Given the description of an element on the screen output the (x, y) to click on. 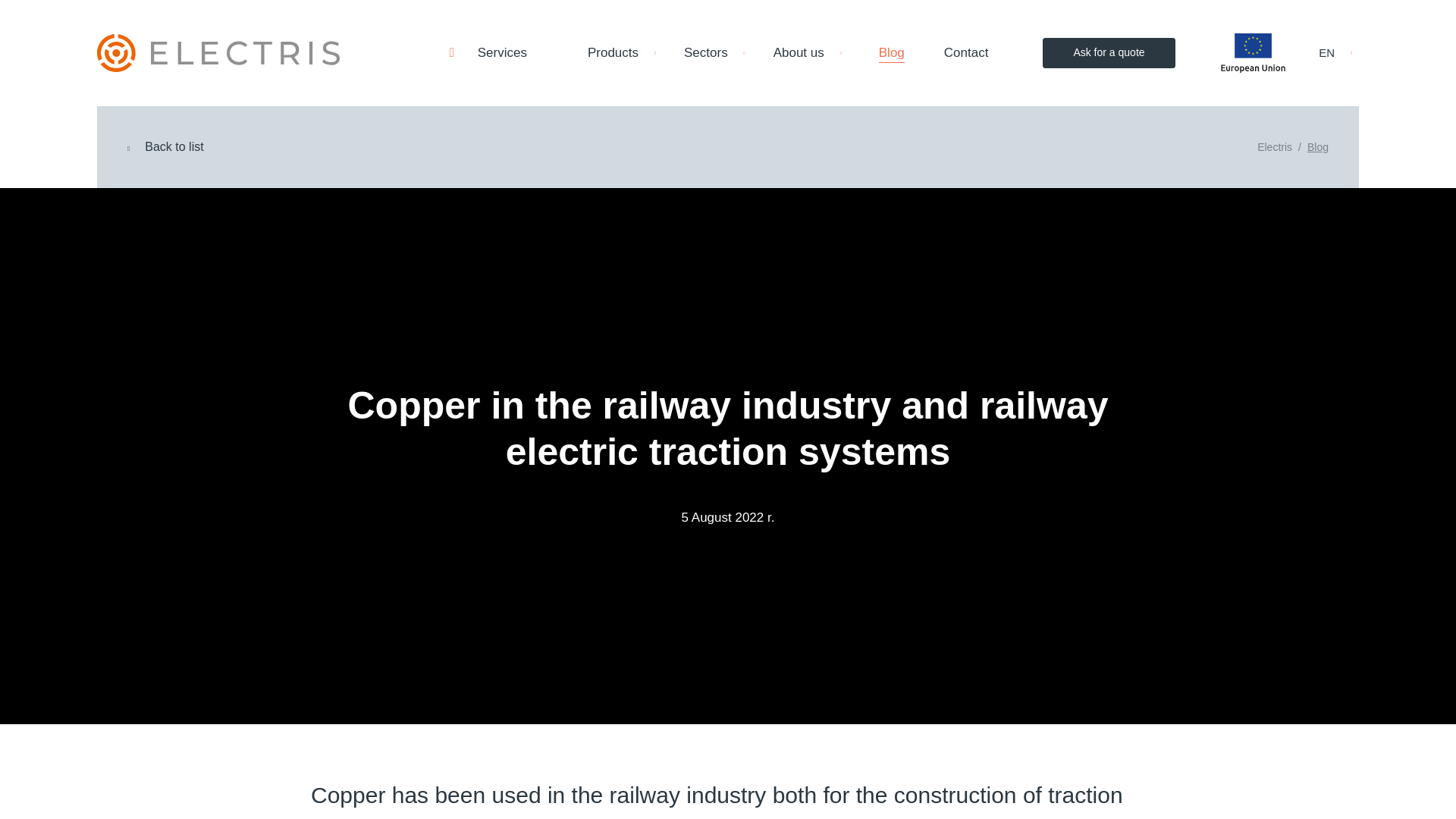
Blog (891, 53)
Contact (965, 53)
Ask for a quote (1108, 52)
About us (810, 53)
Services (481, 53)
